Given the description of an element on the screen output the (x, y) to click on. 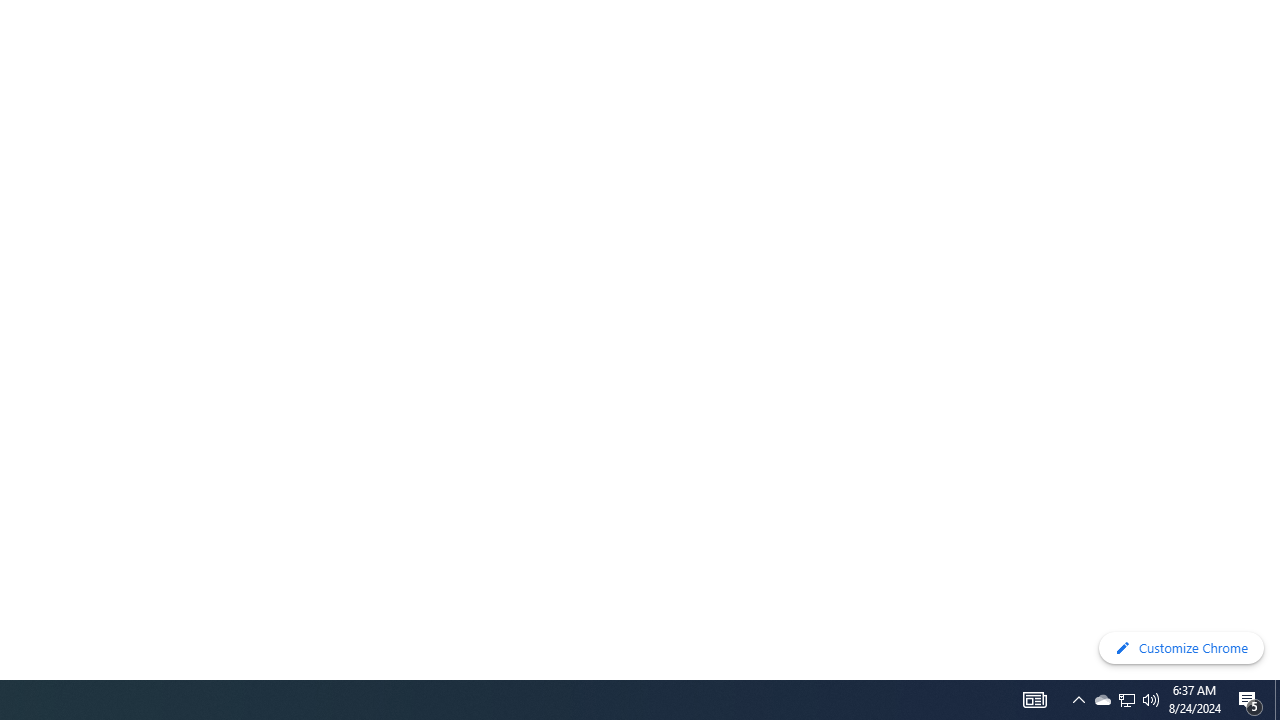
Customize Chrome (1181, 647)
